Given the description of an element on the screen output the (x, y) to click on. 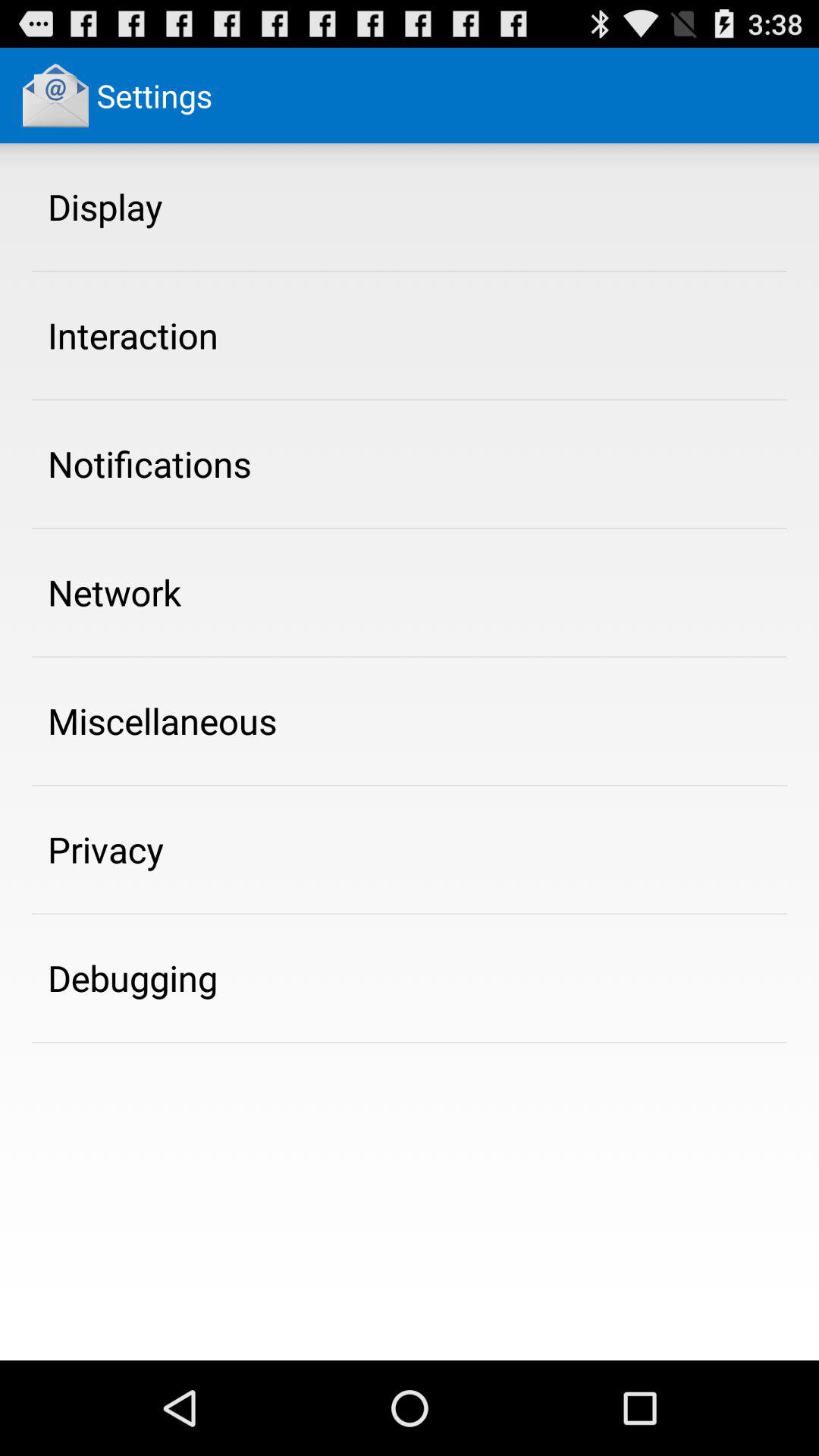
swipe until the notifications app (149, 463)
